Given the description of an element on the screen output the (x, y) to click on. 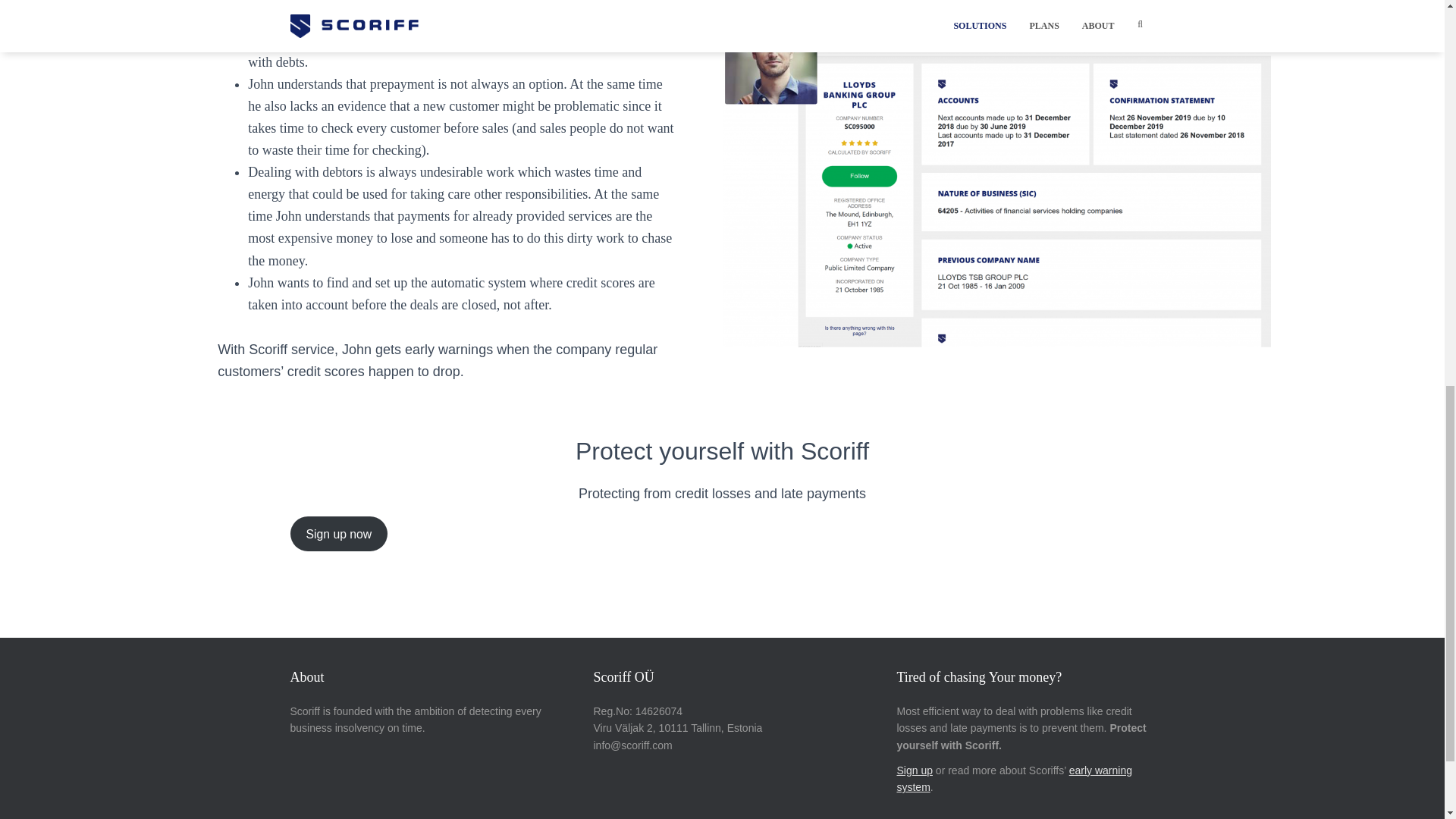
Sign up (913, 770)
Sign up now (338, 533)
early warning system (1014, 778)
